Given the description of an element on the screen output the (x, y) to click on. 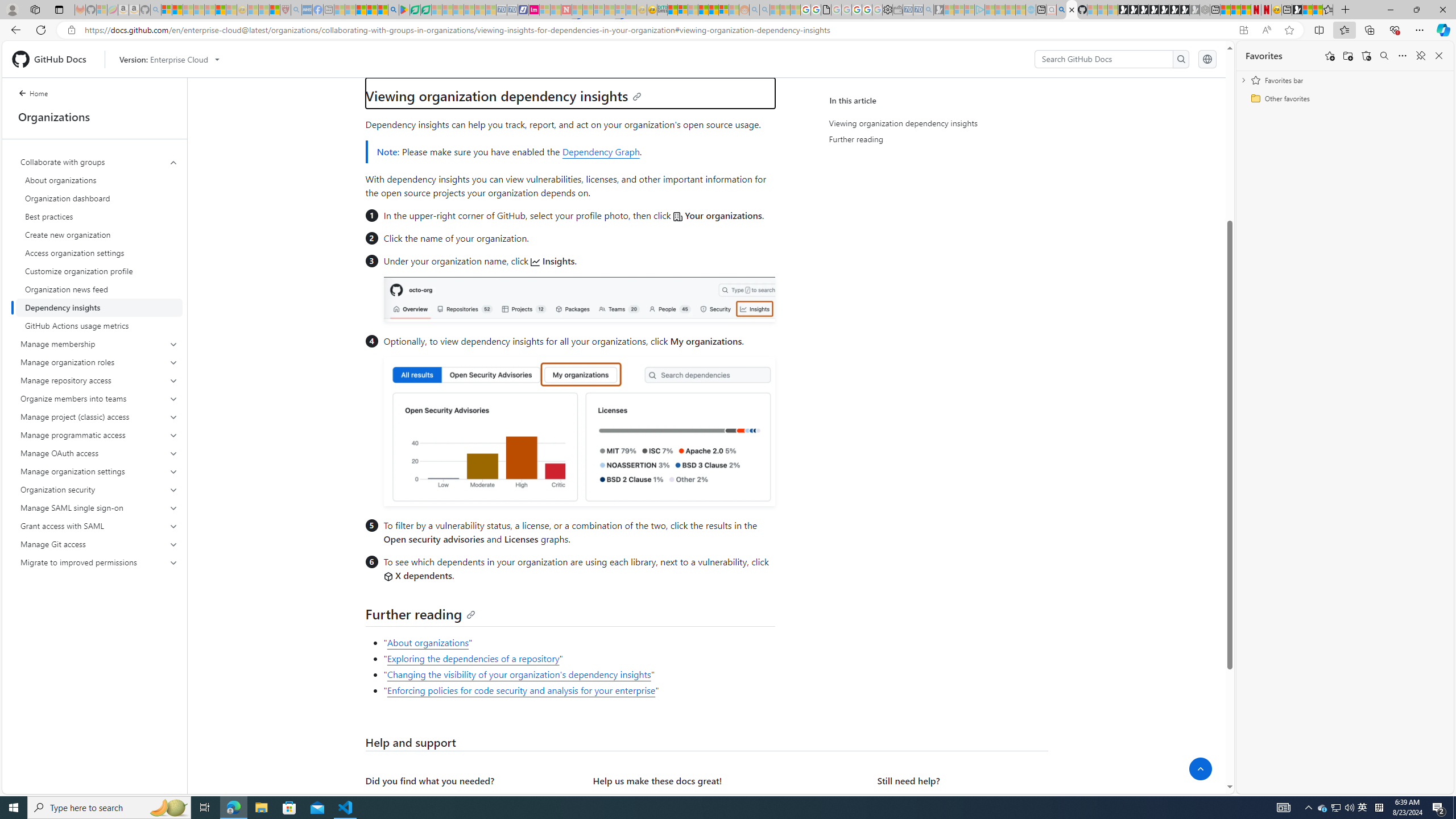
Manage SAML single sign-on (99, 507)
Manage organization roles (99, 361)
